Given the description of an element on the screen output the (x, y) to click on. 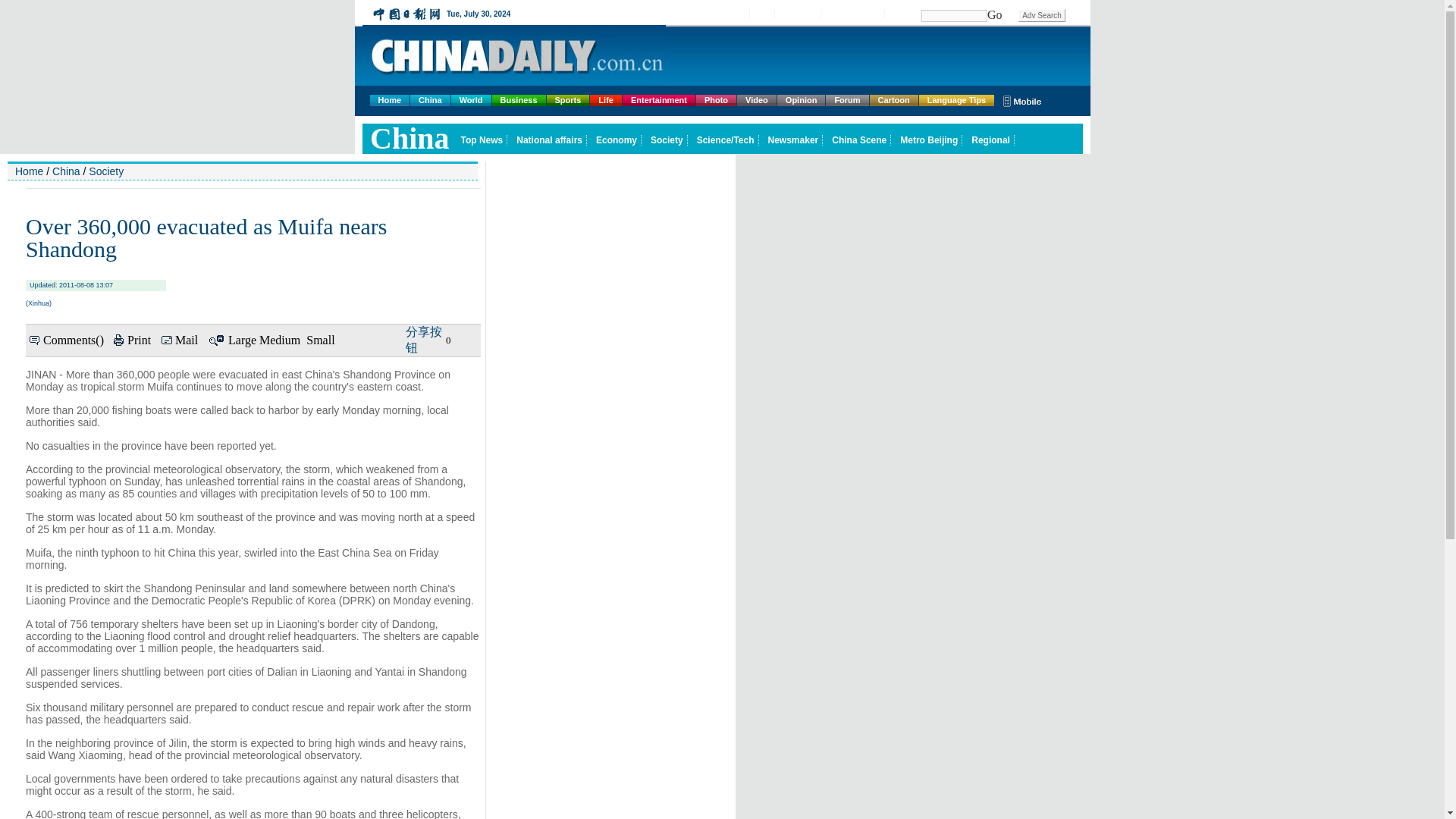
Business (519, 100)
China (429, 100)
World (471, 100)
Home (389, 100)
Life (605, 100)
Sports (568, 100)
